Given the description of an element on the screen output the (x, y) to click on. 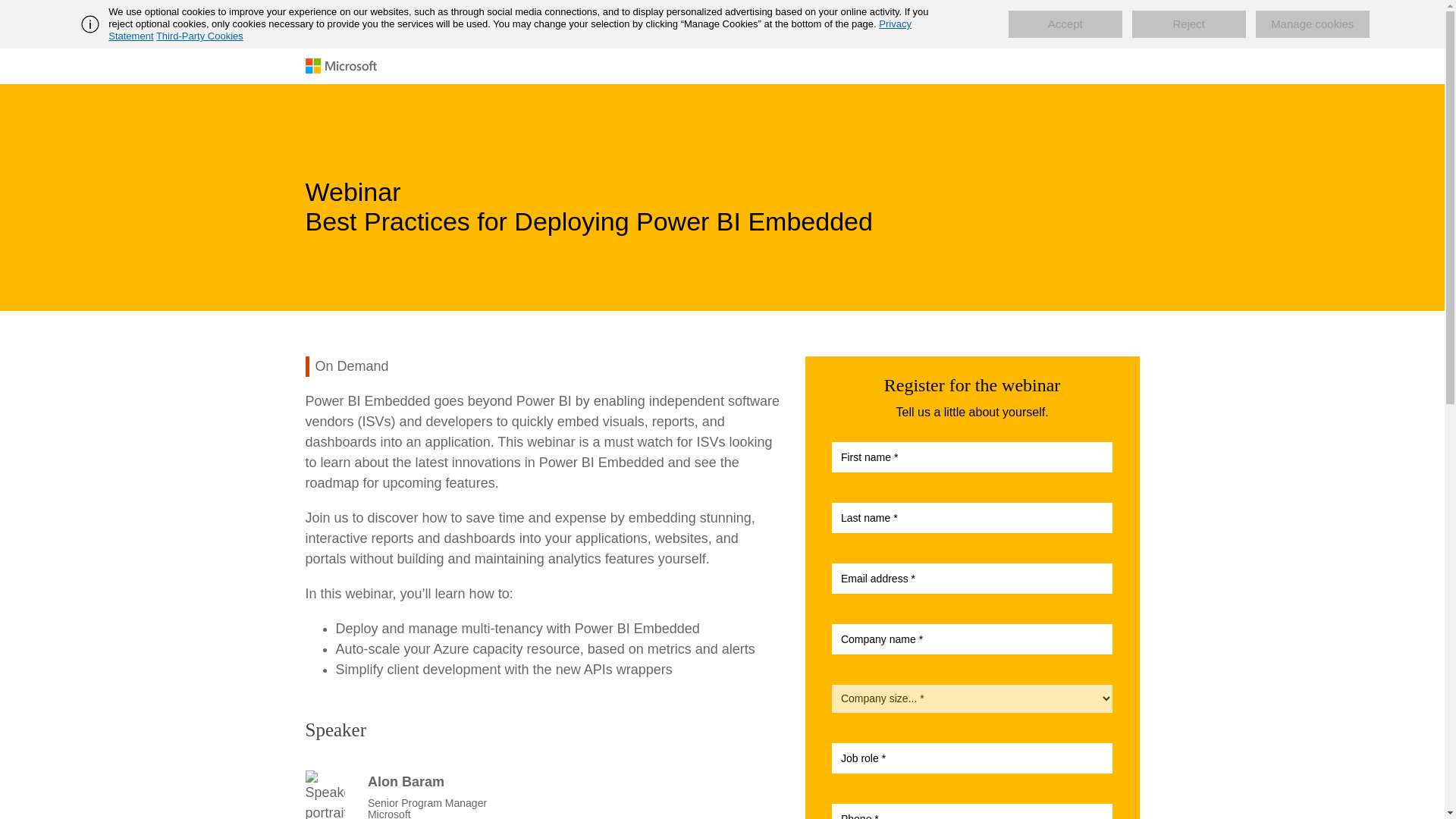
Manage cookies (1312, 23)
Privacy Statement (509, 29)
Accept (1065, 23)
Third-Party Cookies (199, 35)
Reject (1189, 23)
